Given the description of an element on the screen output the (x, y) to click on. 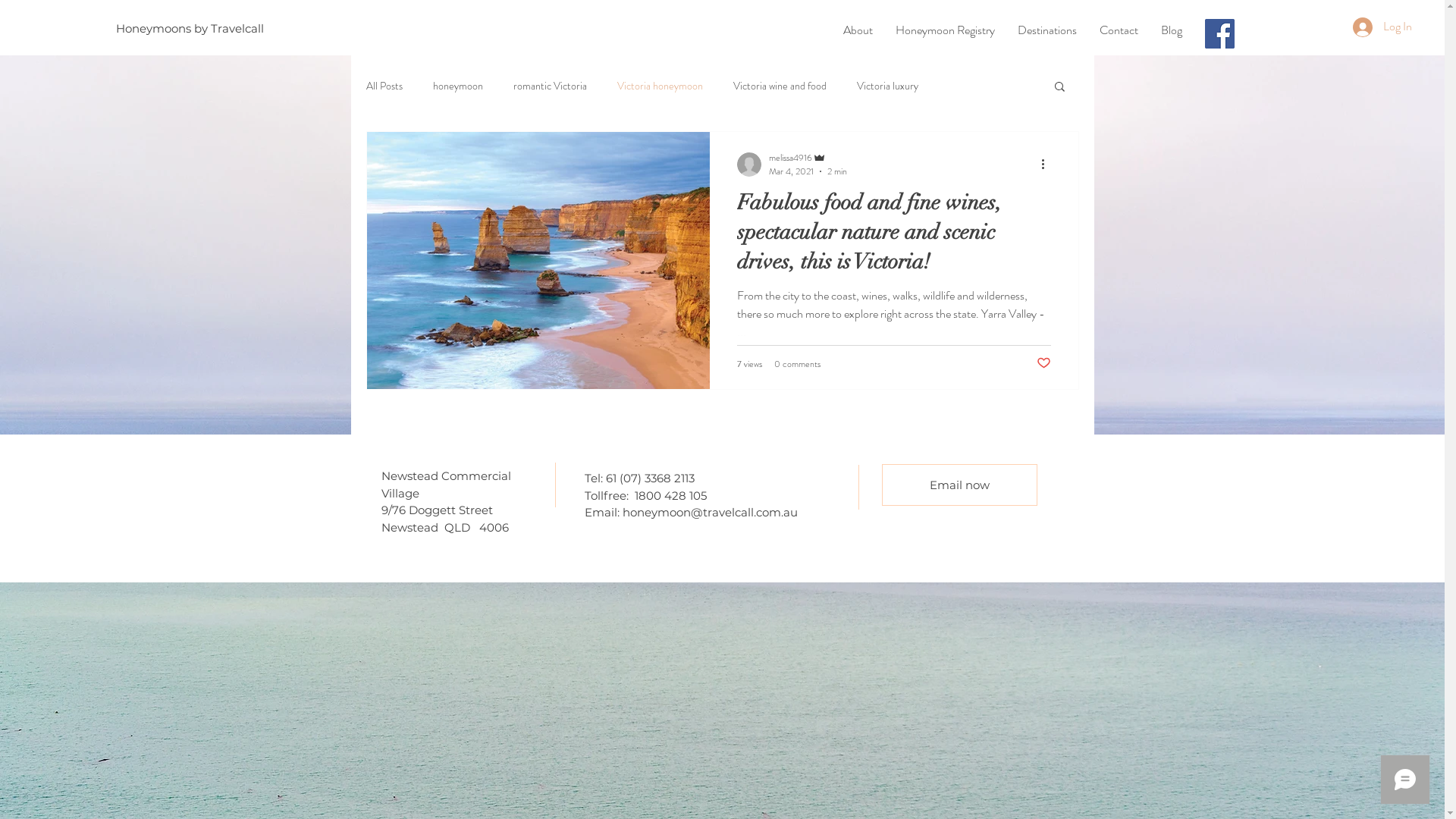
melissa4916 Element type: text (807, 157)
Victoria wine and food Element type: text (778, 85)
romantic Victoria Element type: text (549, 85)
Destinations Element type: text (1046, 30)
Honeymoons by Travelcall Element type: text (189, 27)
Log In Element type: text (1382, 26)
Victoria luxury Element type: text (887, 85)
0 comments Element type: text (796, 363)
honeymoon@travelcall.com.au Element type: text (709, 512)
Victoria honeymoon Element type: text (659, 85)
Email now Element type: text (958, 484)
Post not marked as liked Element type: text (1042, 363)
honeymoon Element type: text (457, 85)
Blog Element type: text (1171, 30)
Contact Element type: text (1117, 30)
Honeymoon Registry Element type: text (945, 30)
All Posts Element type: text (383, 85)
About Element type: text (857, 30)
